Given the description of an element on the screen output the (x, y) to click on. 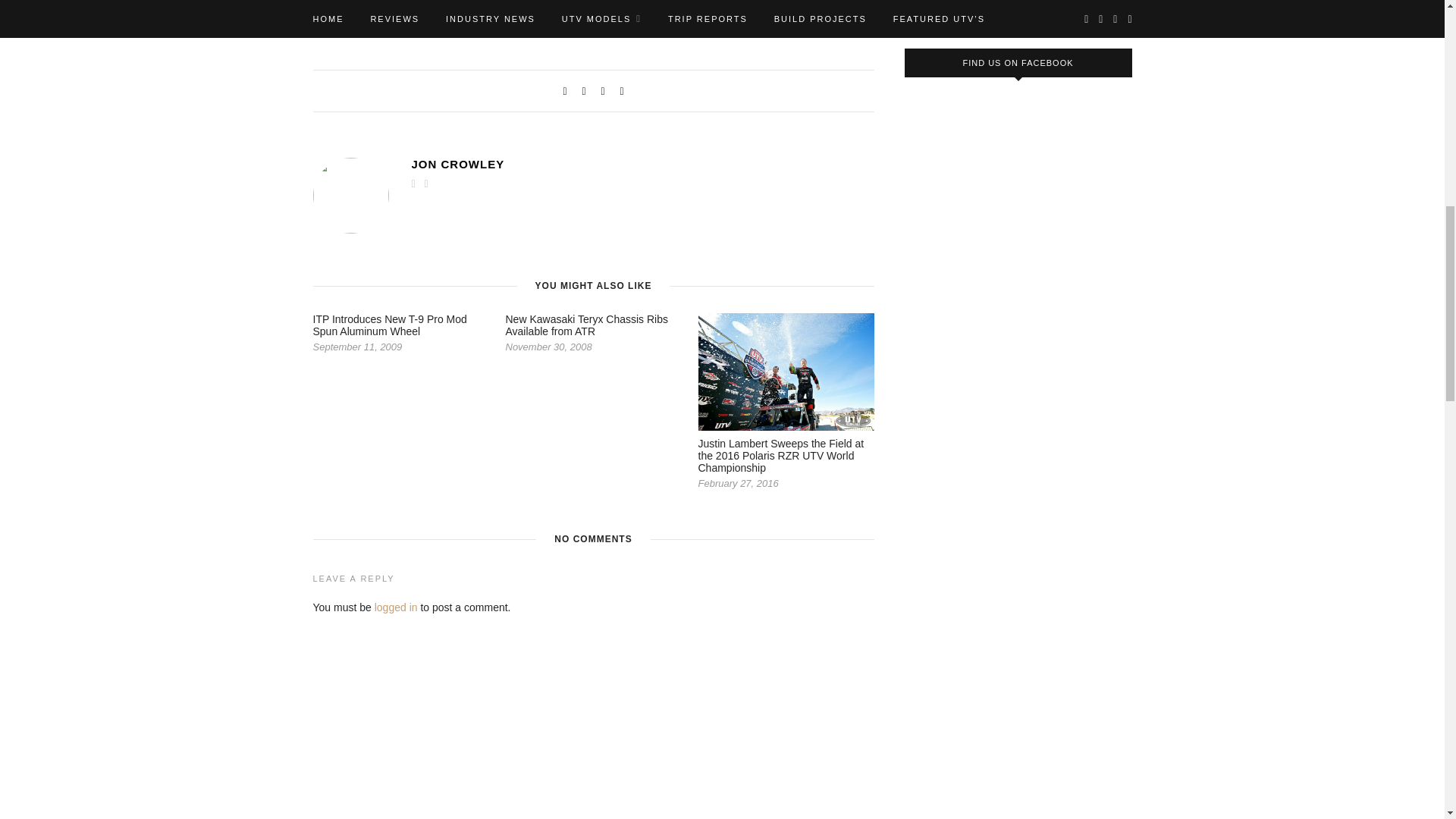
3rd party ad content (1017, 805)
3rd party ad content (1017, 11)
YouTube video player (1017, 697)
JON CROWLEY (641, 164)
3rd party ad content (1017, 198)
logged in (395, 607)
YouTube video player (1017, 540)
New Kawasaki Teryx Chassis Ribs Available from ATR (585, 324)
ITP Introduces New T-9 Pro Mod Spun Aluminum Wheel (389, 324)
